Given the description of an element on the screen output the (x, y) to click on. 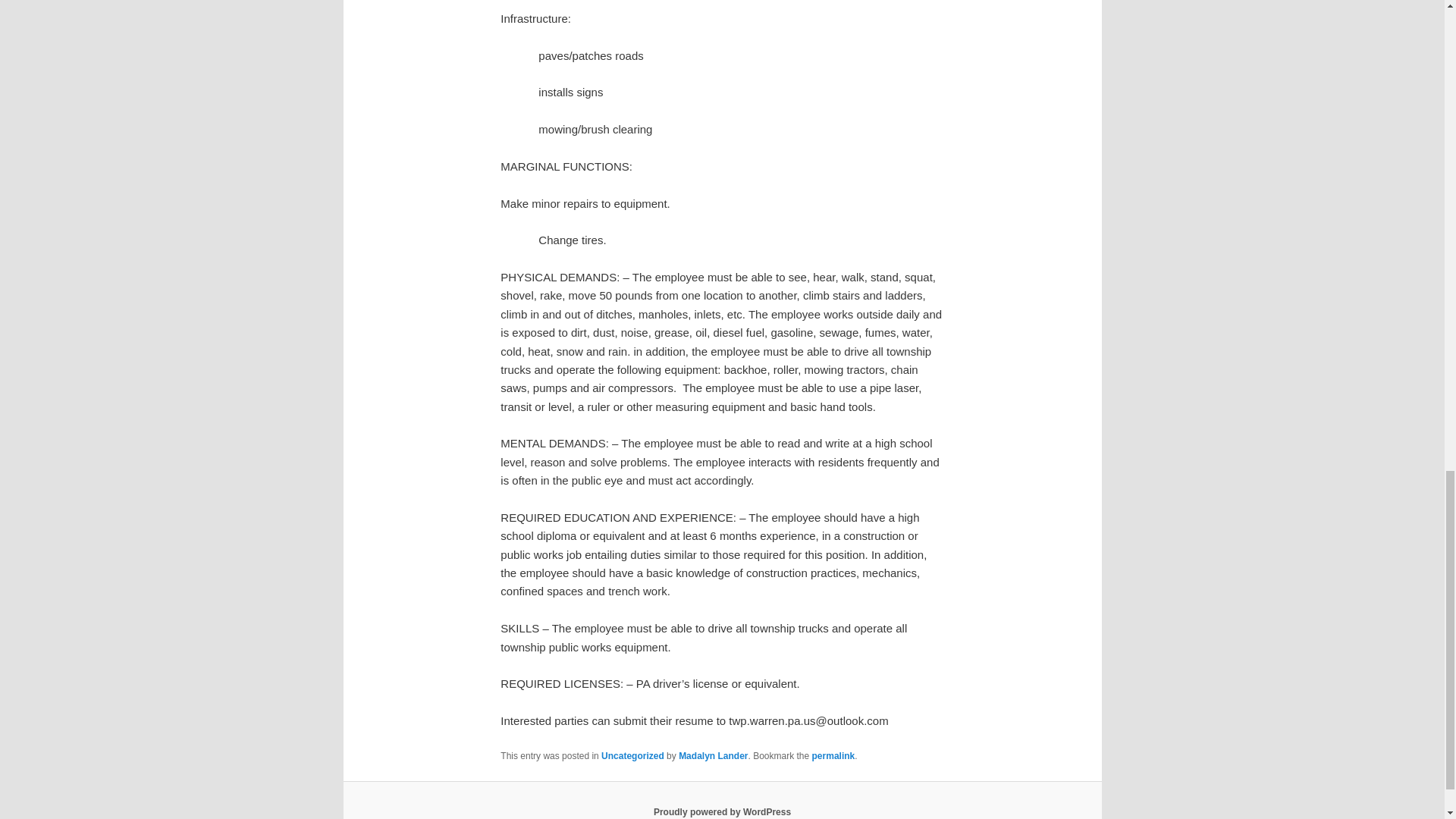
Semantic Personal Publishing Platform (721, 811)
Uncategorized (632, 756)
Proudly powered by WordPress (721, 811)
Madalyn Lander (713, 756)
permalink (834, 756)
